Given the description of an element on the screen output the (x, y) to click on. 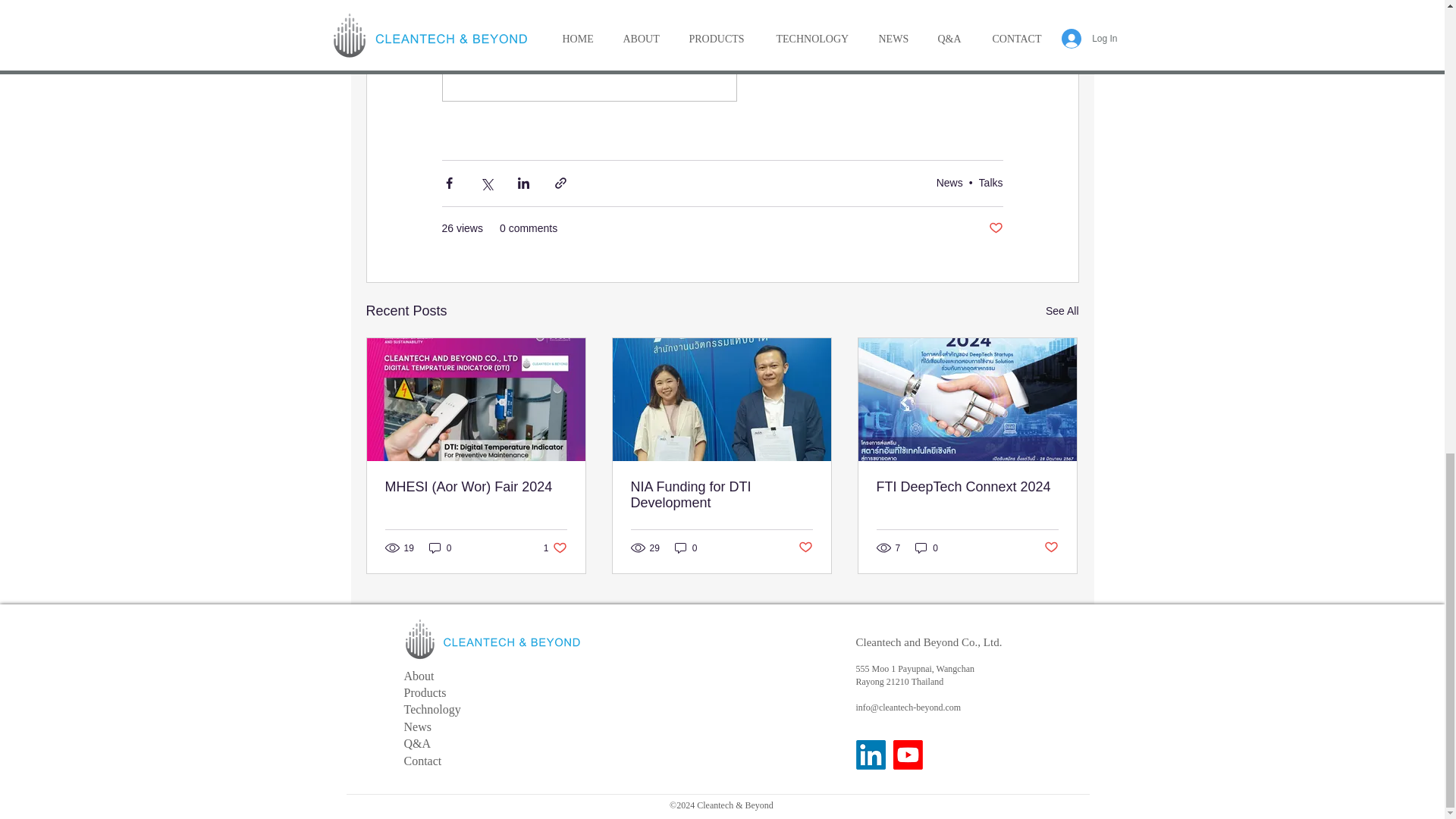
Post not marked as liked (555, 547)
See All (995, 228)
Talks (1061, 311)
0 (990, 182)
News (440, 547)
